Given the description of an element on the screen output the (x, y) to click on. 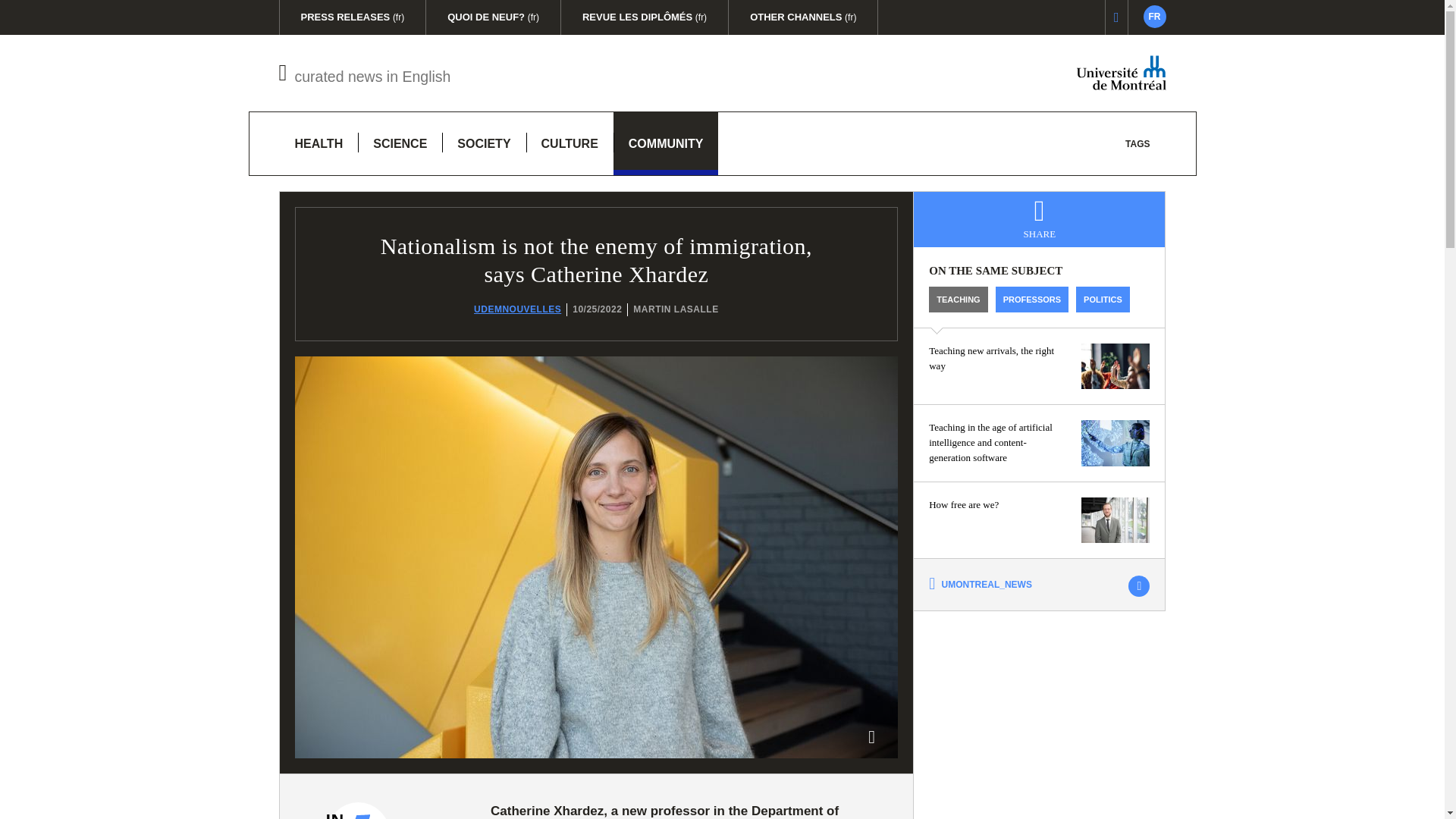
COMMUNITY (665, 143)
TAGS (1137, 143)
SHARE (1039, 219)
UDEMNOUVELLES (517, 308)
CULTURE (365, 72)
SCIENCE (568, 143)
Catherine Xhardez (400, 143)
In 5 seconds (1154, 15)
HEALTH (390, 810)
SOCIETY (318, 143)
